Given the description of an element on the screen output the (x, y) to click on. 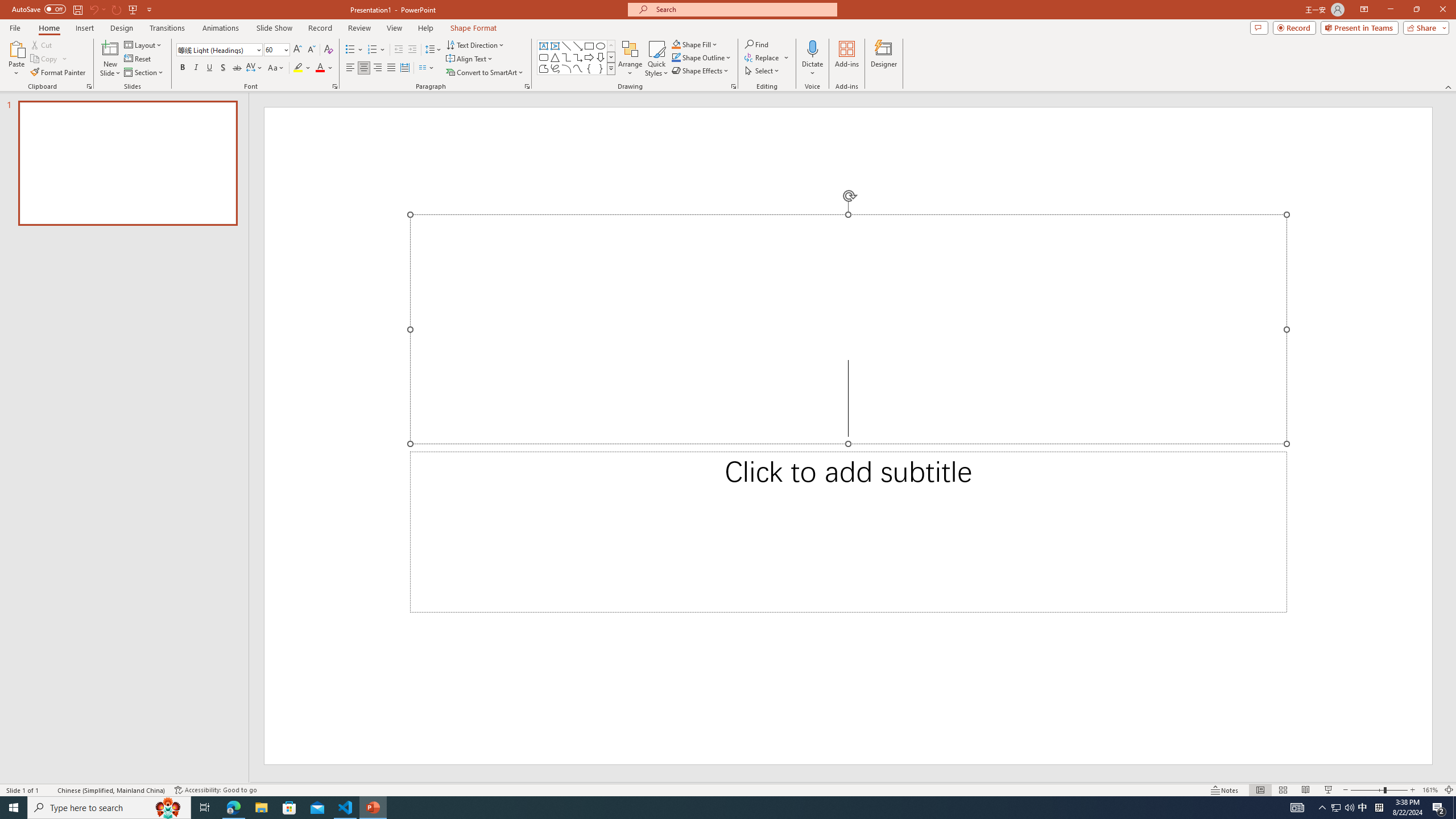
Shape Outline Blue, Accent 1 (675, 56)
